Given the description of an element on the screen output the (x, y) to click on. 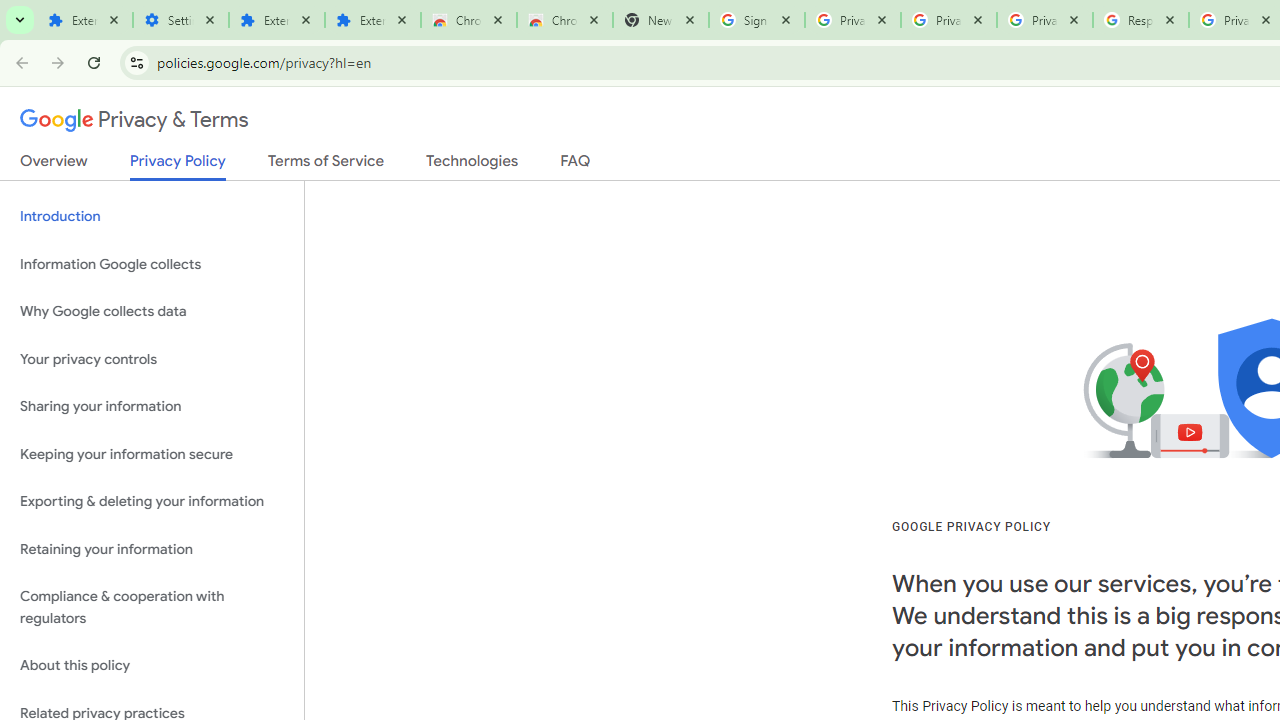
Sign in - Google Accounts (757, 20)
Chrome Web Store (469, 20)
Settings (181, 20)
